Given the description of an element on the screen output the (x, y) to click on. 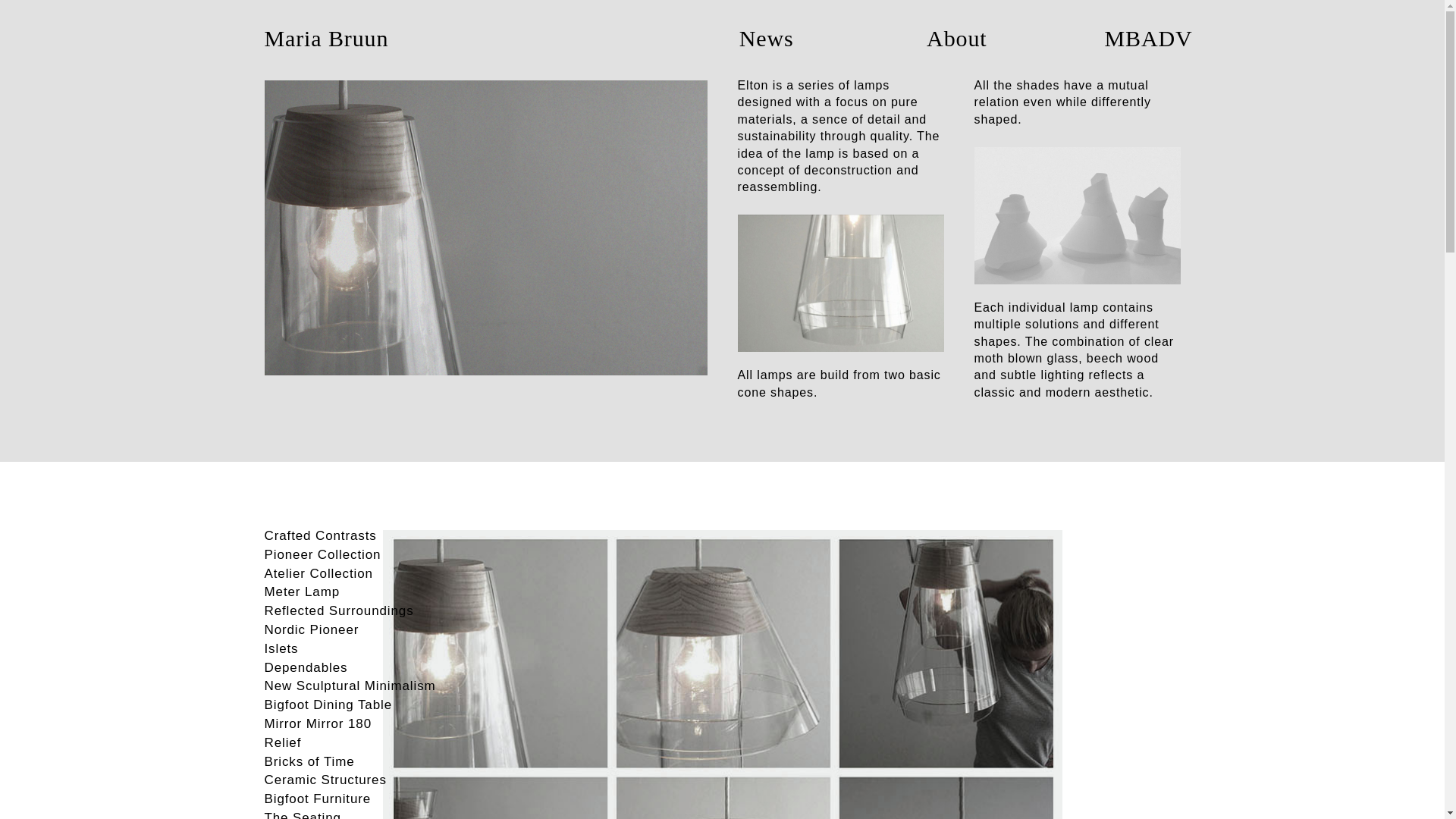
Bigfoot Dining Table (366, 705)
The Seating (366, 814)
Islets (366, 649)
News (755, 38)
About (949, 38)
Dependables (366, 668)
Nordic Pioneer (366, 629)
Meter Lamp (366, 592)
Crafted Contrasts (366, 536)
New Sculptural Minimalism (366, 686)
Pioneer Collection (366, 555)
Bigfoot Furniture (366, 799)
Mirror Mirror 180 (366, 723)
Relief (366, 742)
Bricks of Time (366, 762)
